Given the description of an element on the screen output the (x, y) to click on. 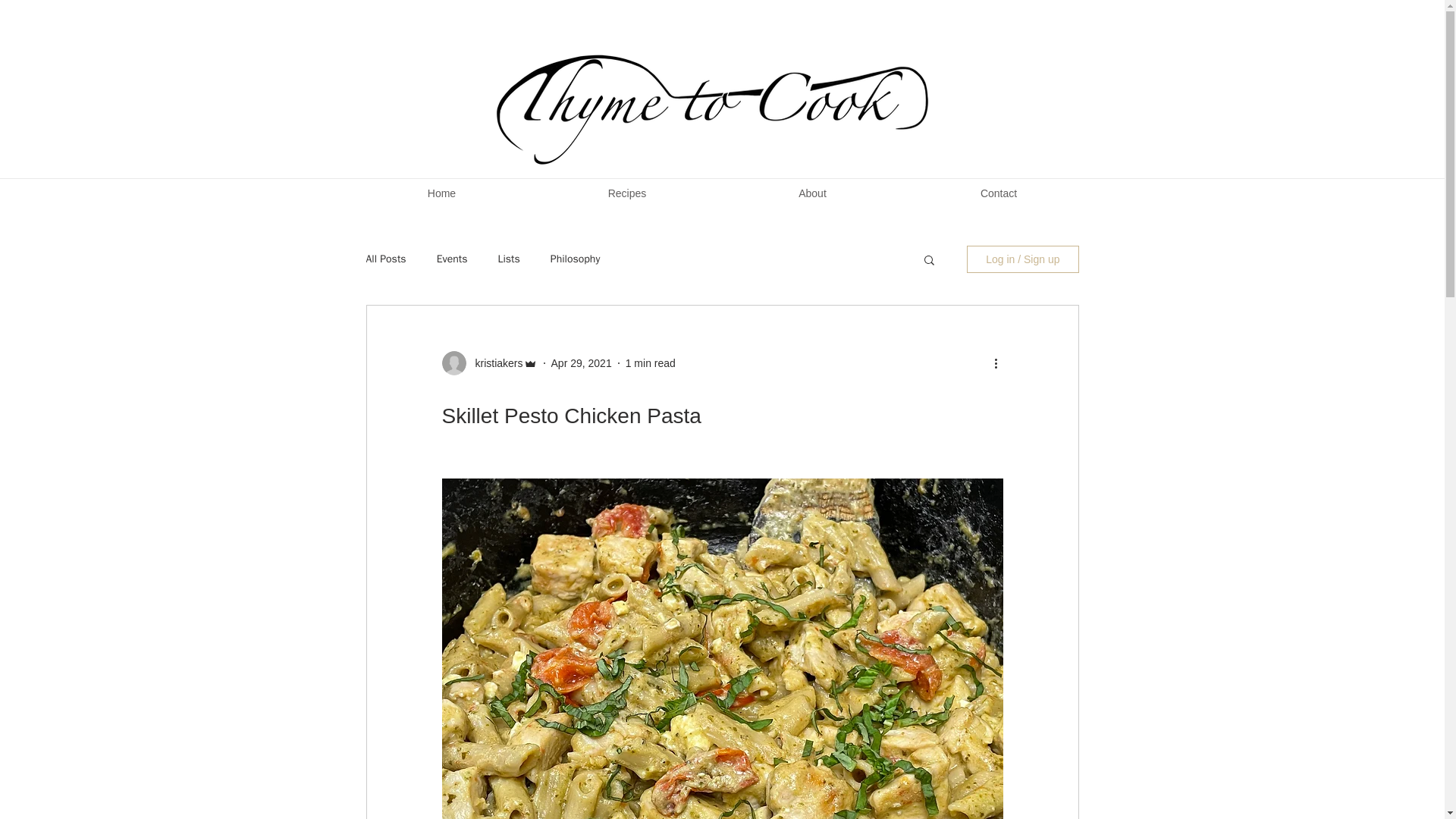
Apr 29, 2021 (581, 362)
All Posts (385, 259)
Recipes (626, 193)
kristiakers (493, 362)
Events (451, 259)
Lists (508, 259)
1 min read (650, 362)
Contact (999, 193)
Home (441, 193)
Philosophy (574, 259)
